Given the description of an element on the screen output the (x, y) to click on. 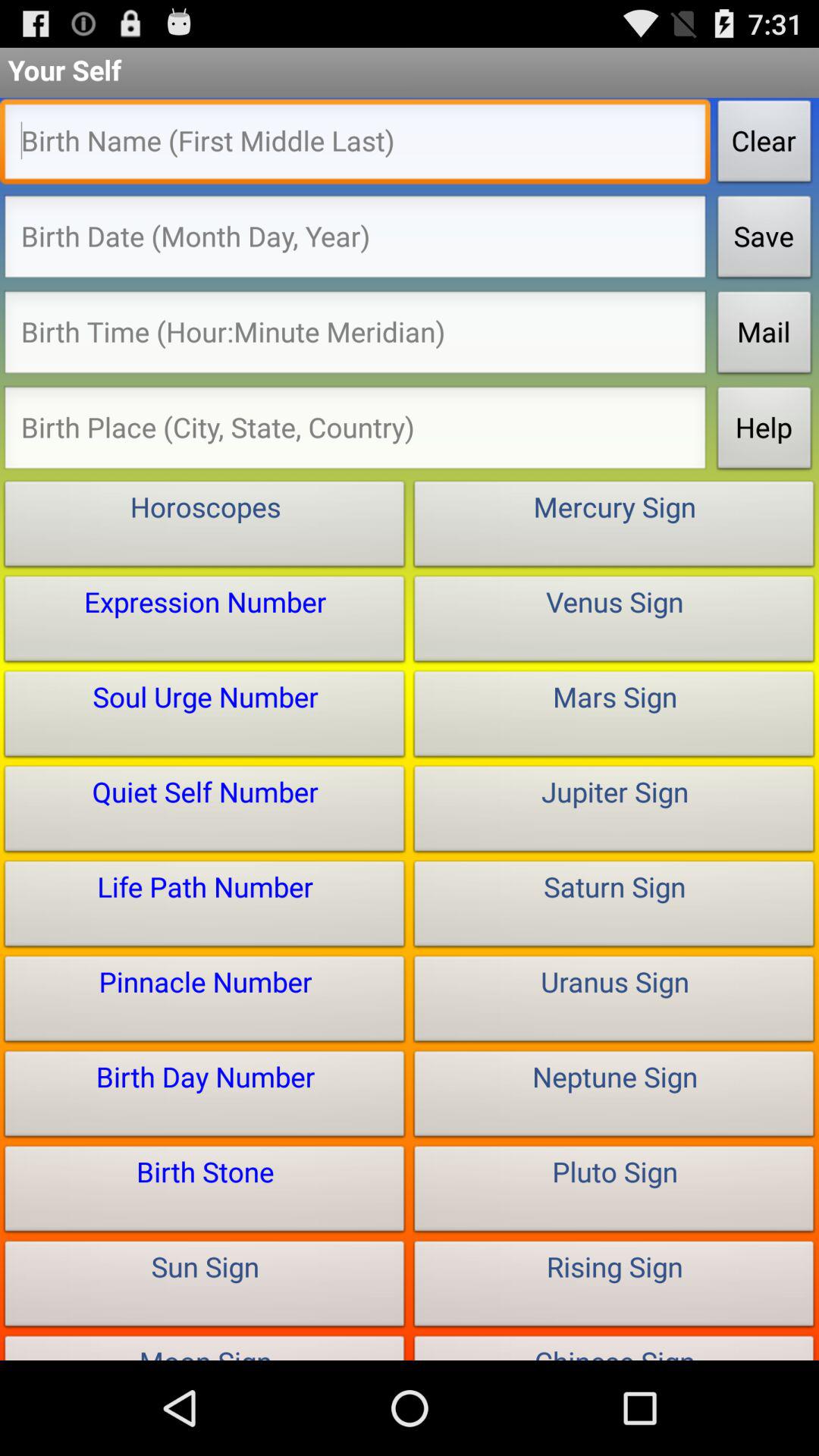
enter full name (355, 145)
